Given the description of an element on the screen output the (x, y) to click on. 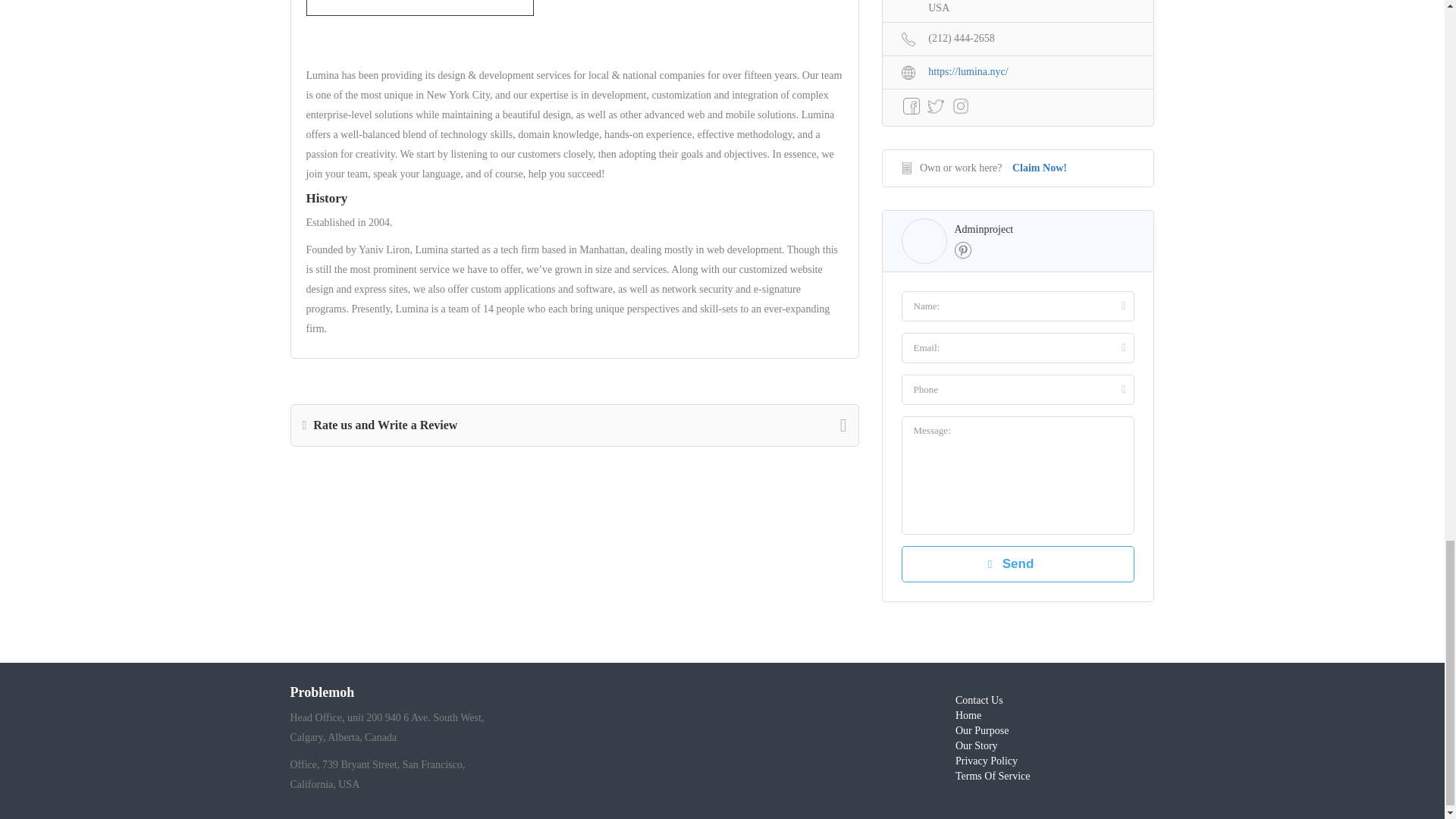
Send (1017, 564)
1123 Broadway, New York, NY 10010, USA (1018, 8)
